Given the description of an element on the screen output the (x, y) to click on. 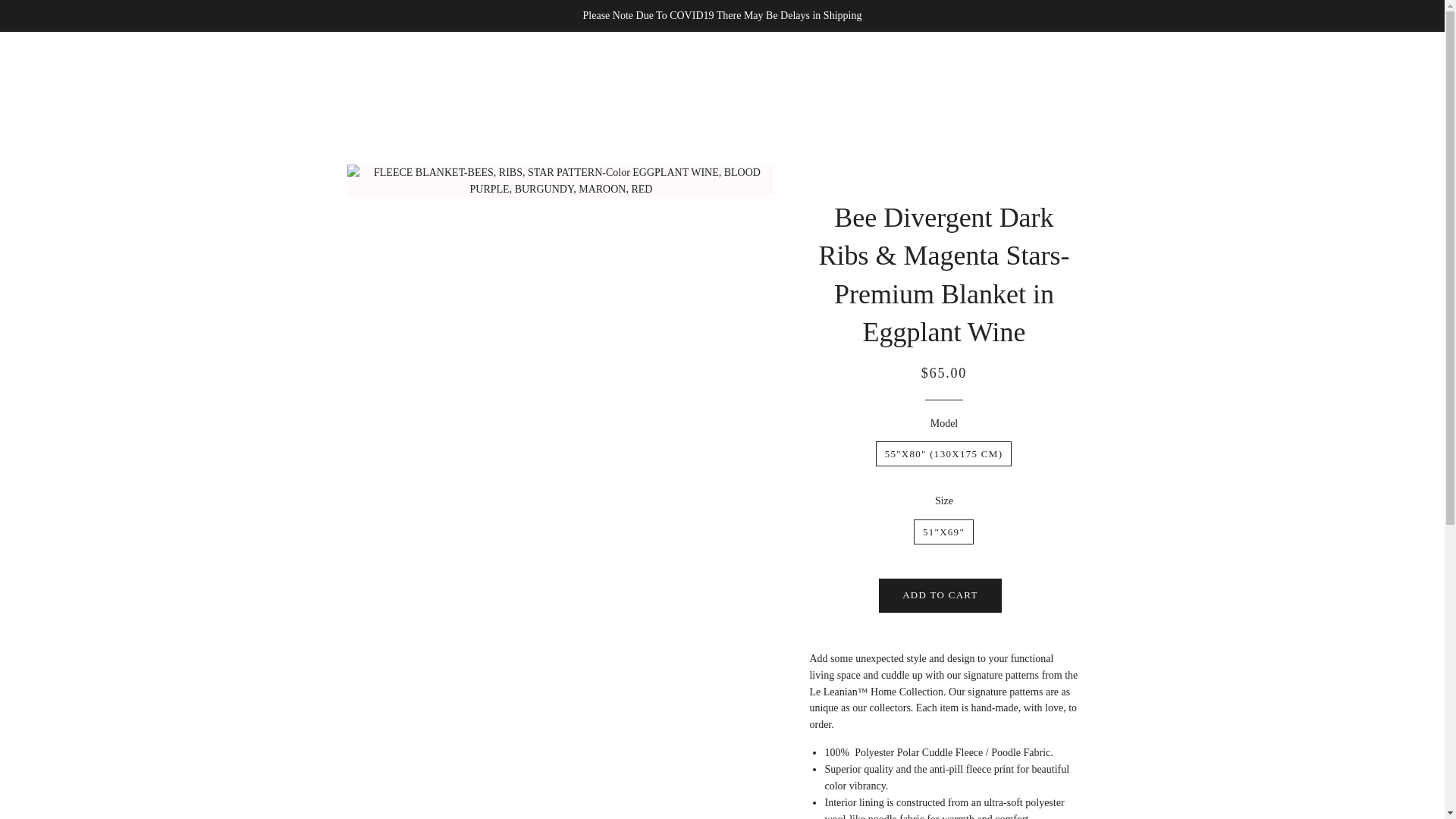
ADD TO CART (940, 594)
